Given the description of an element on the screen output the (x, y) to click on. 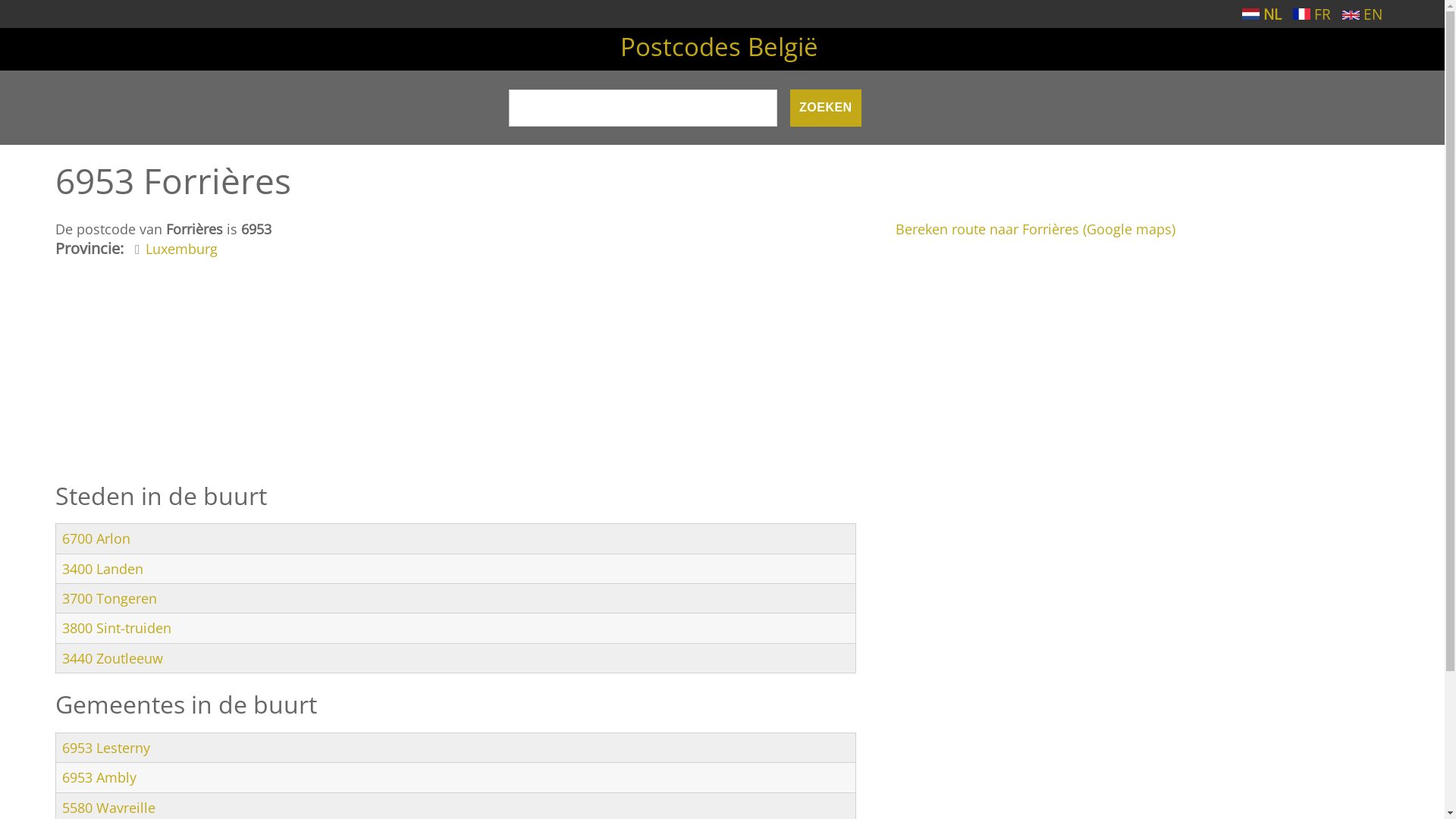
FR Element type: hover (1301, 13)
3400 Landen Element type: text (102, 568)
NL Element type: hover (1250, 13)
Advertisement Element type: hover (454, 373)
3700 Tongeren Element type: text (109, 598)
5580 Wavreille Element type: text (108, 807)
EN Element type: text (1362, 13)
3800 Sint-truiden Element type: text (116, 627)
Luxemburg Element type: text (181, 248)
Zoeken Element type: text (825, 107)
6953 Lesterny Element type: text (106, 747)
FR Element type: text (1311, 13)
EN Element type: hover (1350, 14)
NL Element type: text (1261, 13)
6700 Arlon Element type: text (96, 538)
6953 Ambly Element type: text (99, 777)
3440 Zoutleeuw Element type: text (112, 658)
